Given the description of an element on the screen output the (x, y) to click on. 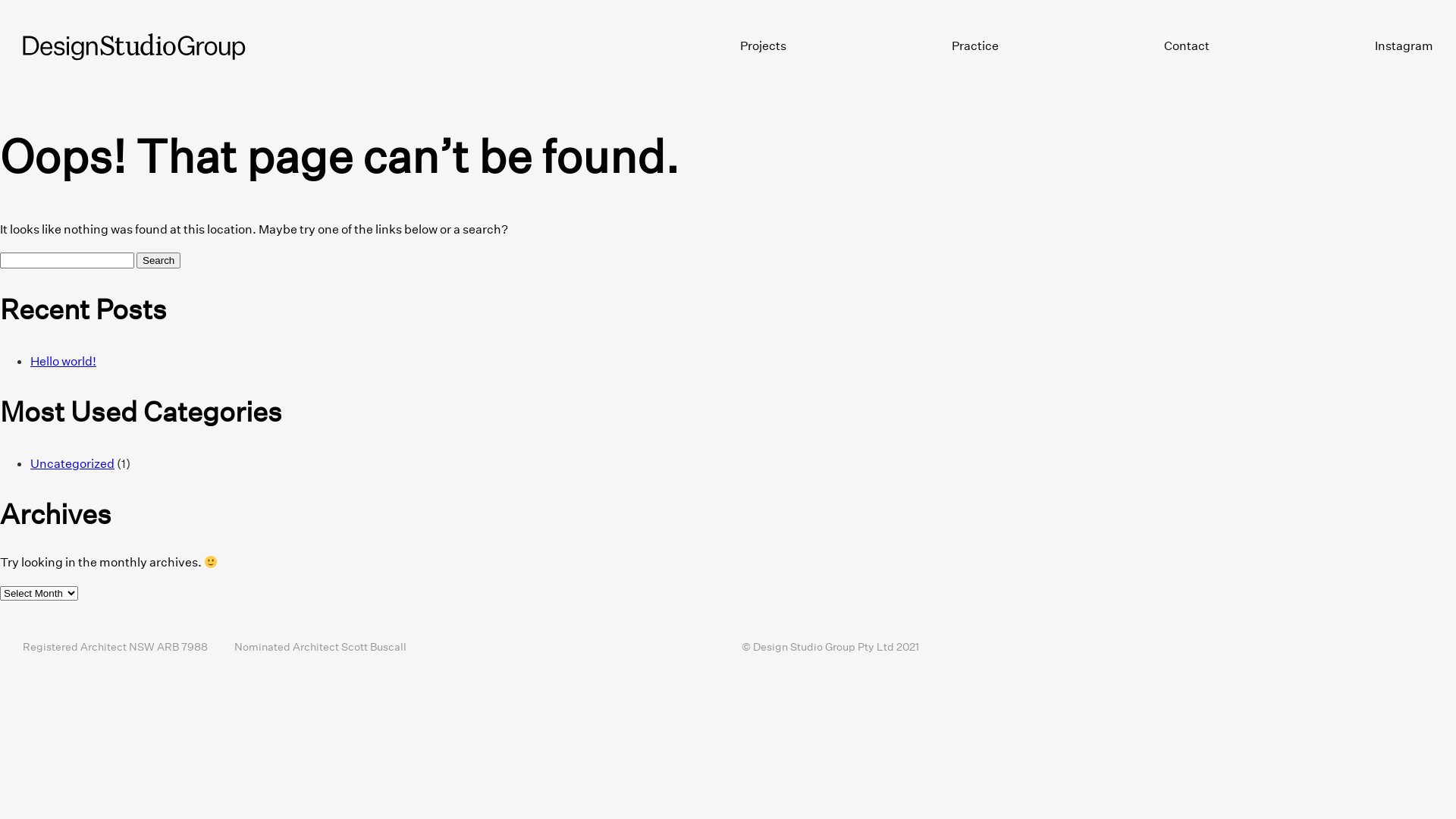
Contact Element type: text (1186, 45)
Search Element type: text (158, 260)
Hello world! Element type: text (63, 360)
Uncategorized Element type: text (72, 462)
Instagram Element type: text (1403, 45)
Projects Element type: text (763, 45)
Practice Element type: text (974, 45)
